Given the description of an element on the screen output the (x, y) to click on. 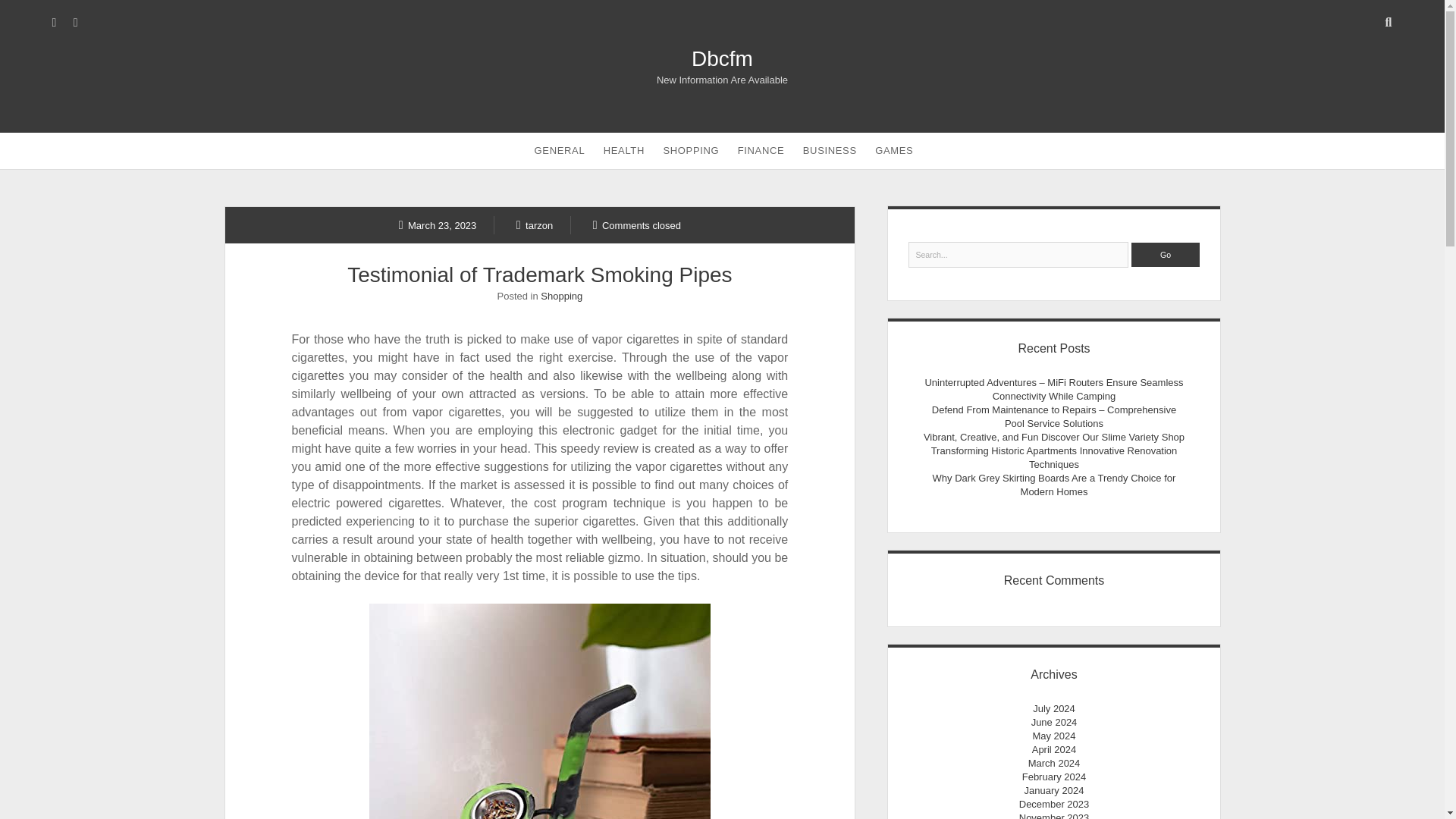
BUSINESS (829, 150)
Vibrant, Creative, and Fun Discover Our Slime Variety Shop (1054, 437)
July 2024 (1053, 708)
March 23, 2023 (437, 224)
January 2024 (1054, 790)
HEALTH (623, 150)
February 2024 (1054, 776)
April 2024 (1054, 749)
tarzon (534, 224)
Posts by tarzon (534, 224)
